Given the description of an element on the screen output the (x, y) to click on. 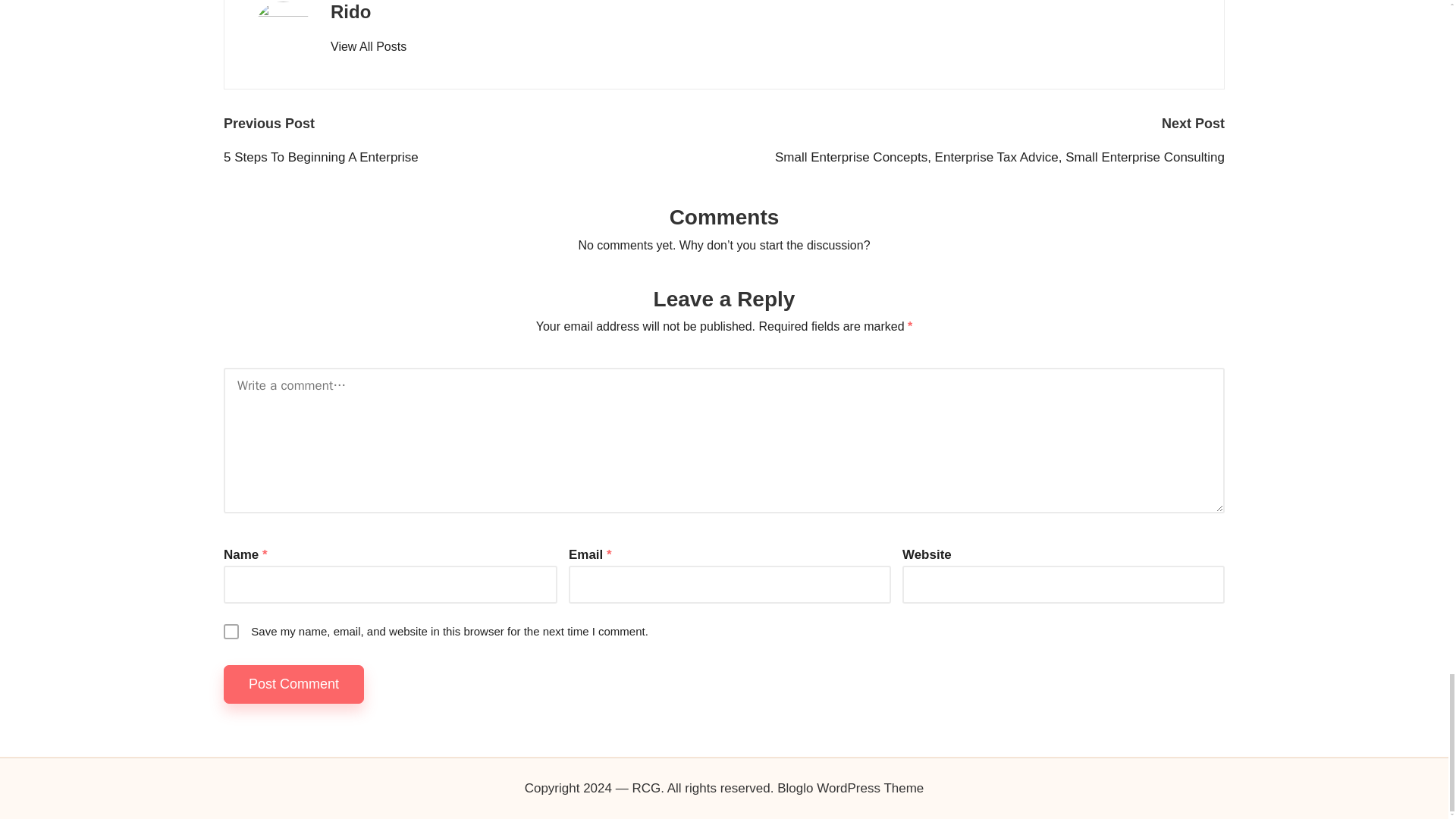
Post Comment (294, 684)
Post Comment (294, 684)
yes (231, 631)
Bloglo WordPress Theme (850, 788)
Rido (350, 11)
View All Posts (368, 46)
5 Steps To Beginning A Enterprise (473, 157)
